Given the description of an element on the screen output the (x, y) to click on. 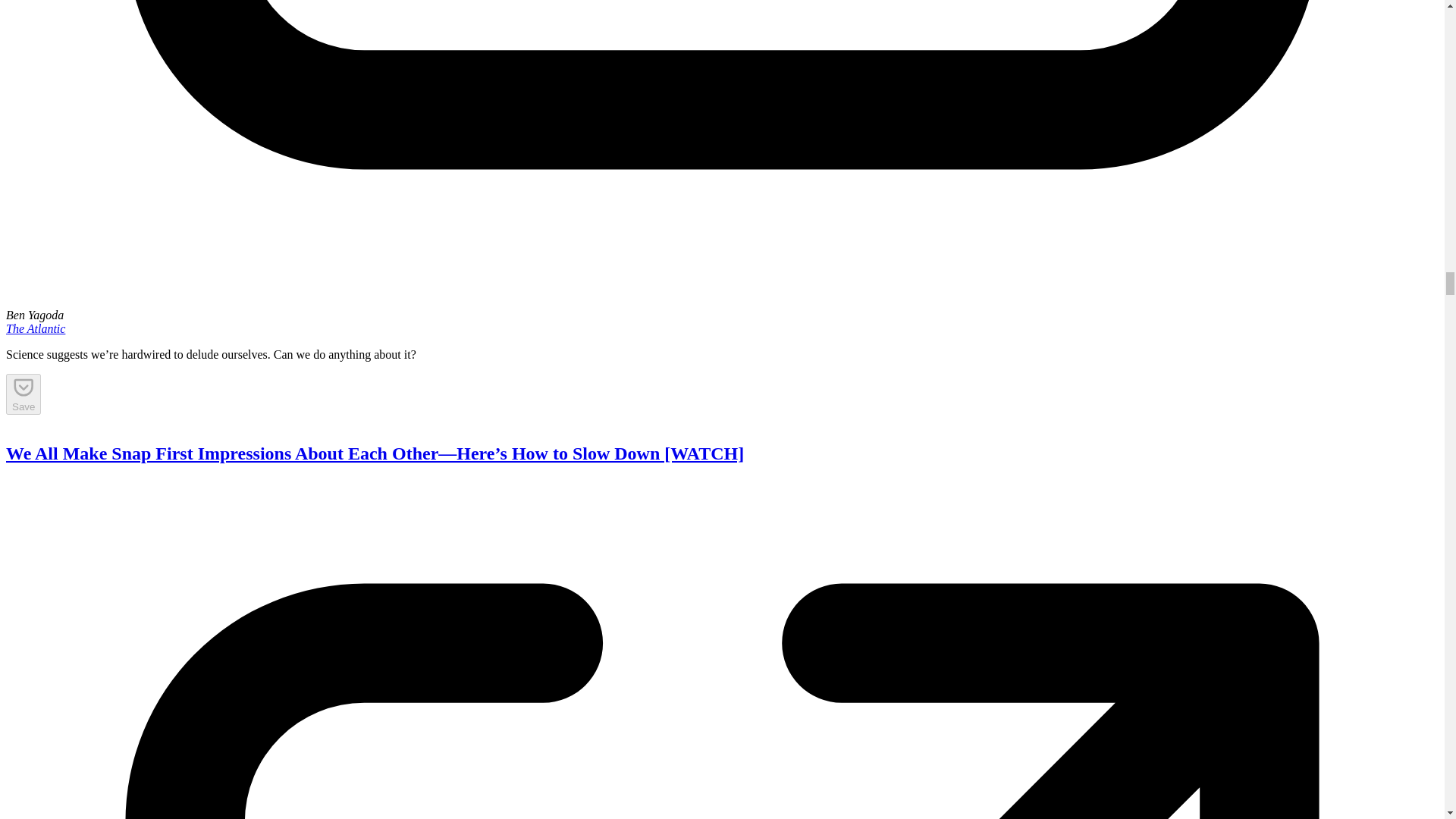
Save (22, 393)
The Atlantic (35, 328)
